Given the description of an element on the screen output the (x, y) to click on. 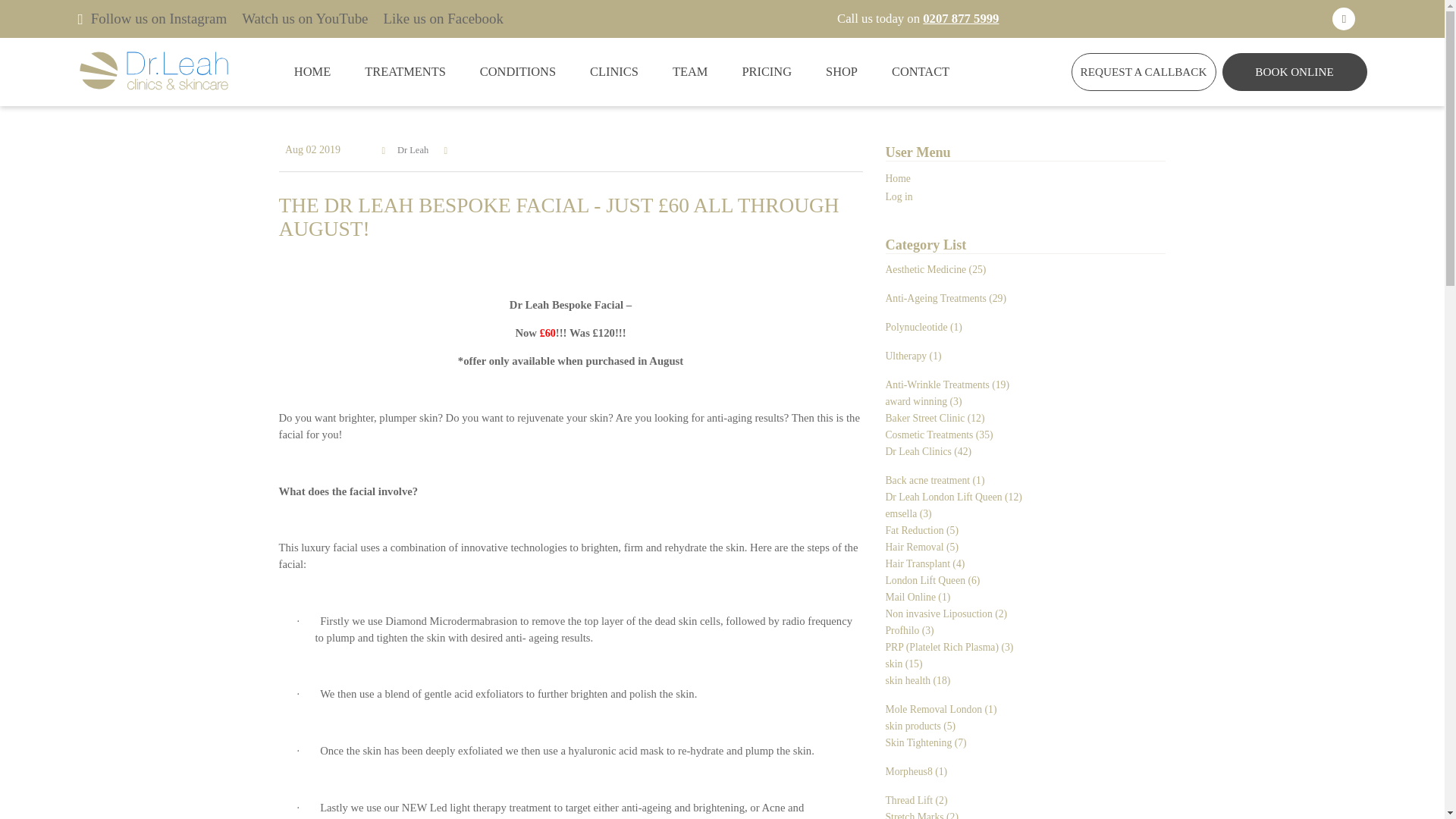
Account (1343, 18)
call us today on 0207 877 5999 (960, 18)
0207 877 5999 (960, 18)
